Given the description of an element on the screen output the (x, y) to click on. 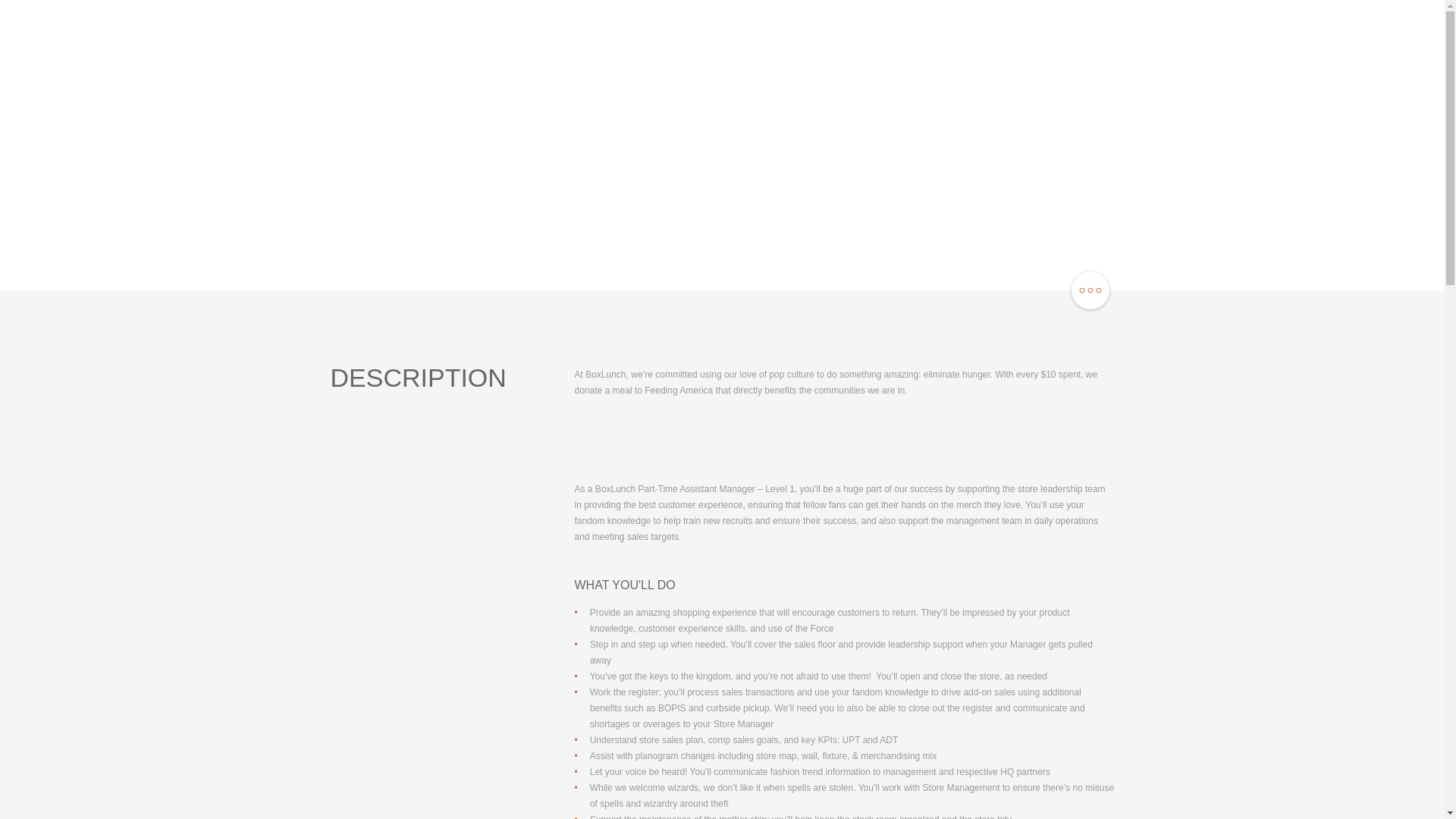
BoxLunch Careers (71, 37)
SEARCH JOB OPENINGS (1328, 37)
Share Job (1089, 290)
